Given the description of an element on the screen output the (x, y) to click on. 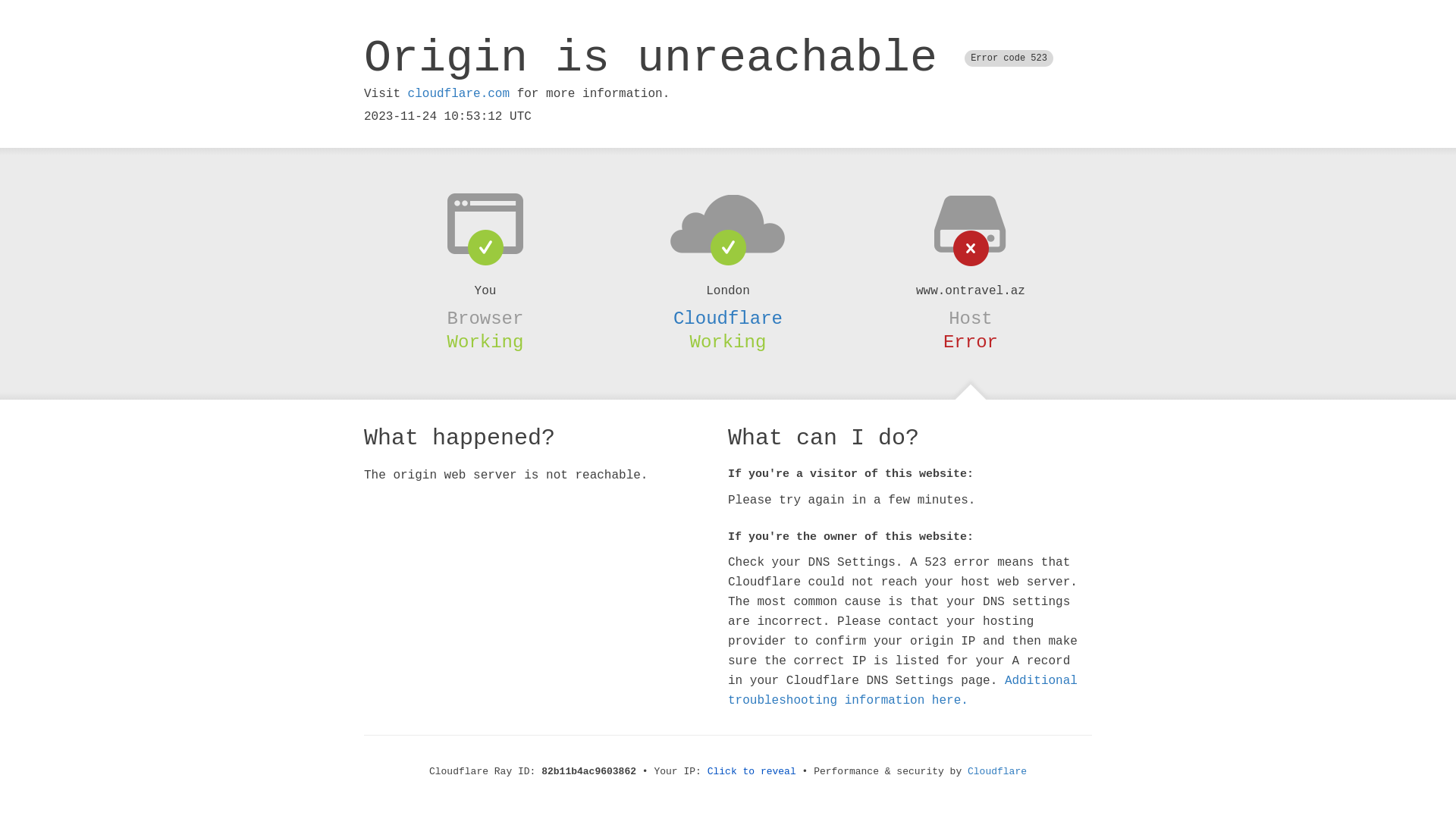
Additional troubleshooting information here. Element type: text (902, 690)
Cloudflare Element type: text (996, 771)
cloudflare.com Element type: text (458, 93)
Cloudflare Element type: text (727, 318)
Click to reveal Element type: text (751, 771)
